Given the description of an element on the screen output the (x, y) to click on. 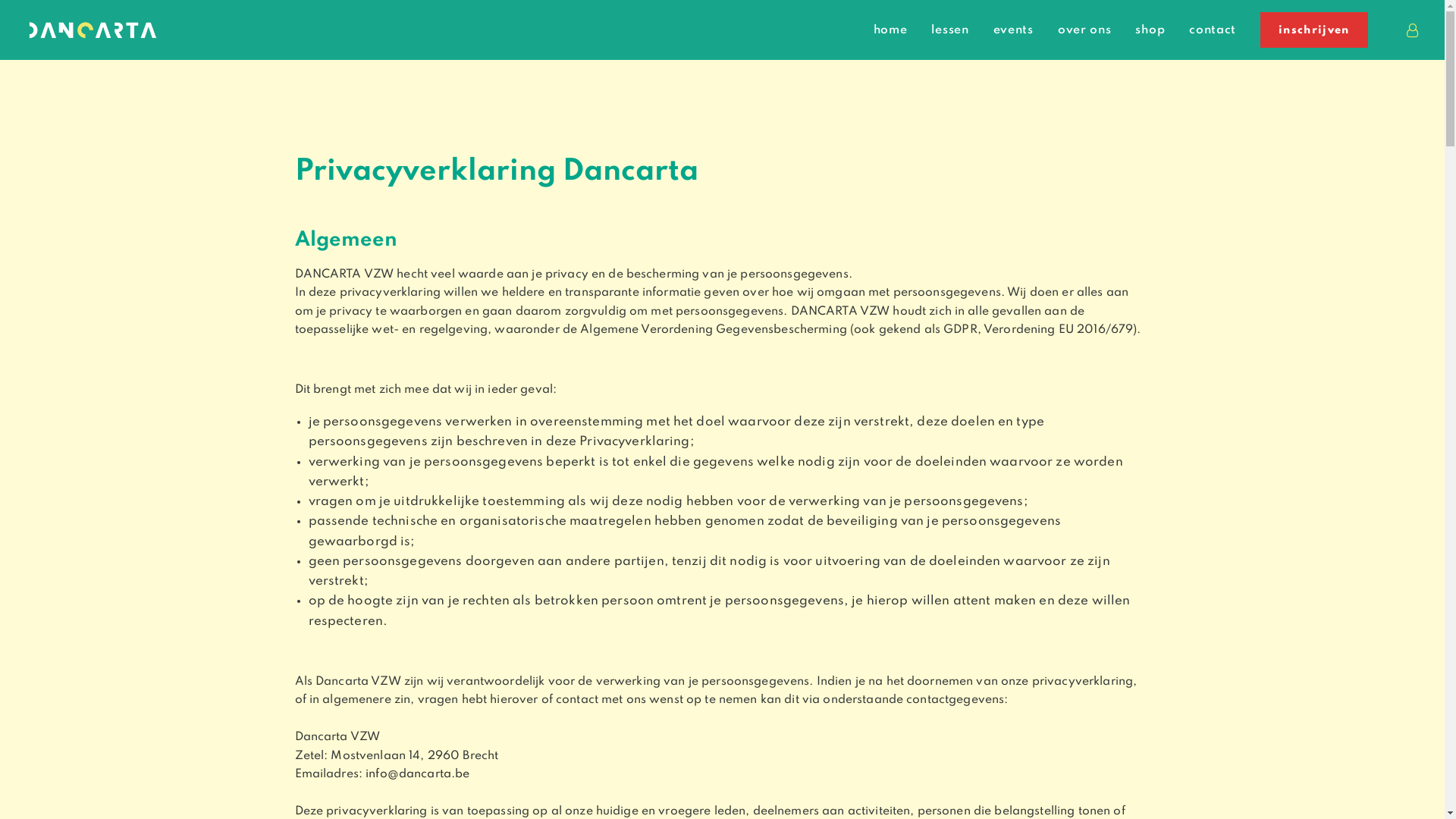
events Element type: text (1013, 29)
home Element type: text (890, 29)
contact Element type: text (1212, 29)
over ons Element type: text (1084, 29)
inschrijven Element type: text (1308, 29)
shop Element type: text (1149, 29)
lessen Element type: text (949, 29)
info@dancarta.be Element type: text (417, 774)
account Element type: hover (1411, 29)
